Given the description of an element on the screen output the (x, y) to click on. 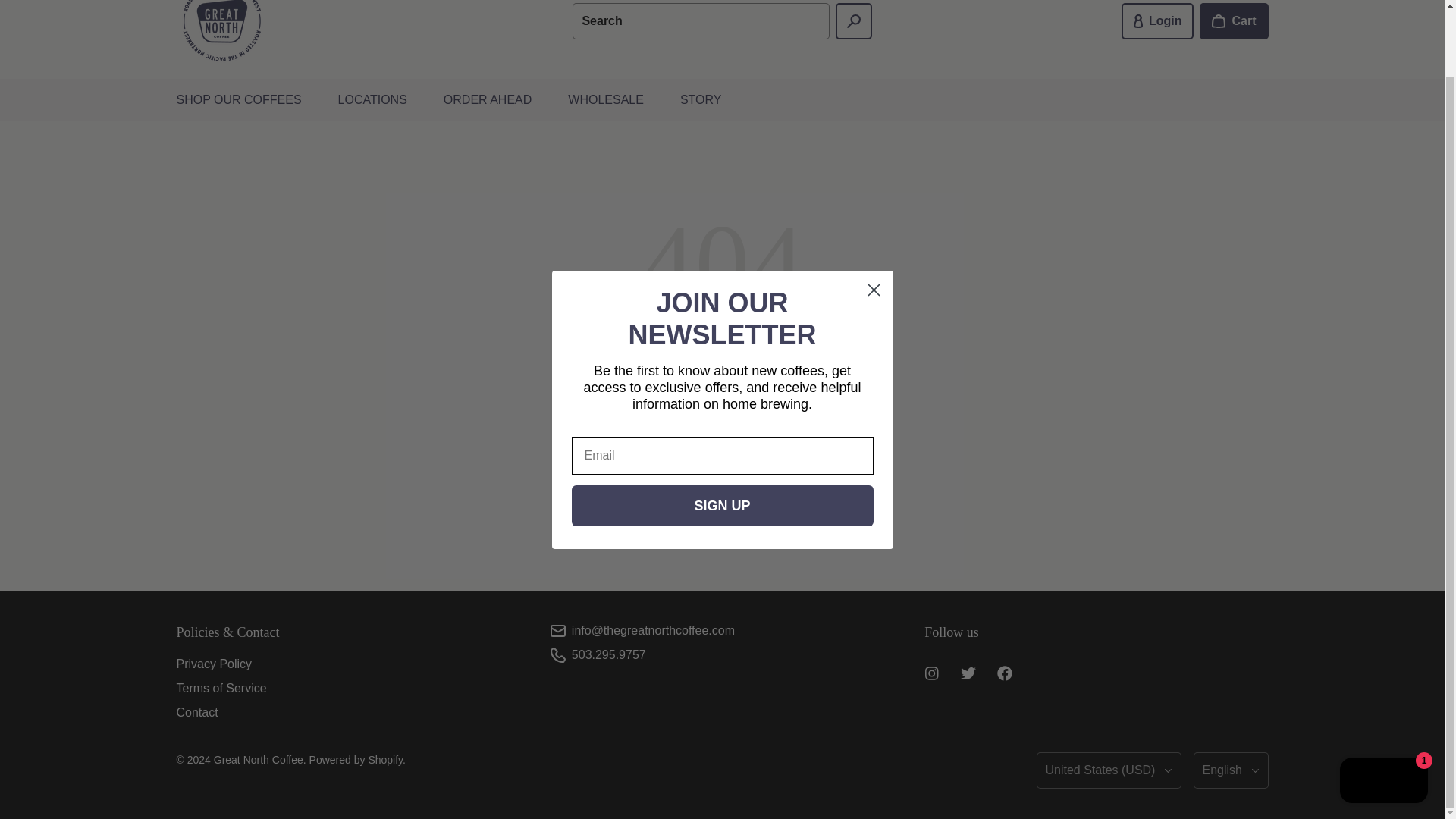
Privacy Policy (213, 663)
Login (1157, 21)
503.295.9757 (609, 654)
Terms of Service (221, 687)
Facebook (1005, 673)
Shopify online store chat (1383, 708)
Cart (1233, 21)
Instagram (932, 673)
Twitter (968, 673)
Great North Coffee (221, 33)
STORY (700, 99)
SIGN UP (722, 432)
LOCATIONS (372, 99)
Great North Coffee (258, 759)
Return to the home page (721, 521)
